Given the description of an element on the screen output the (x, y) to click on. 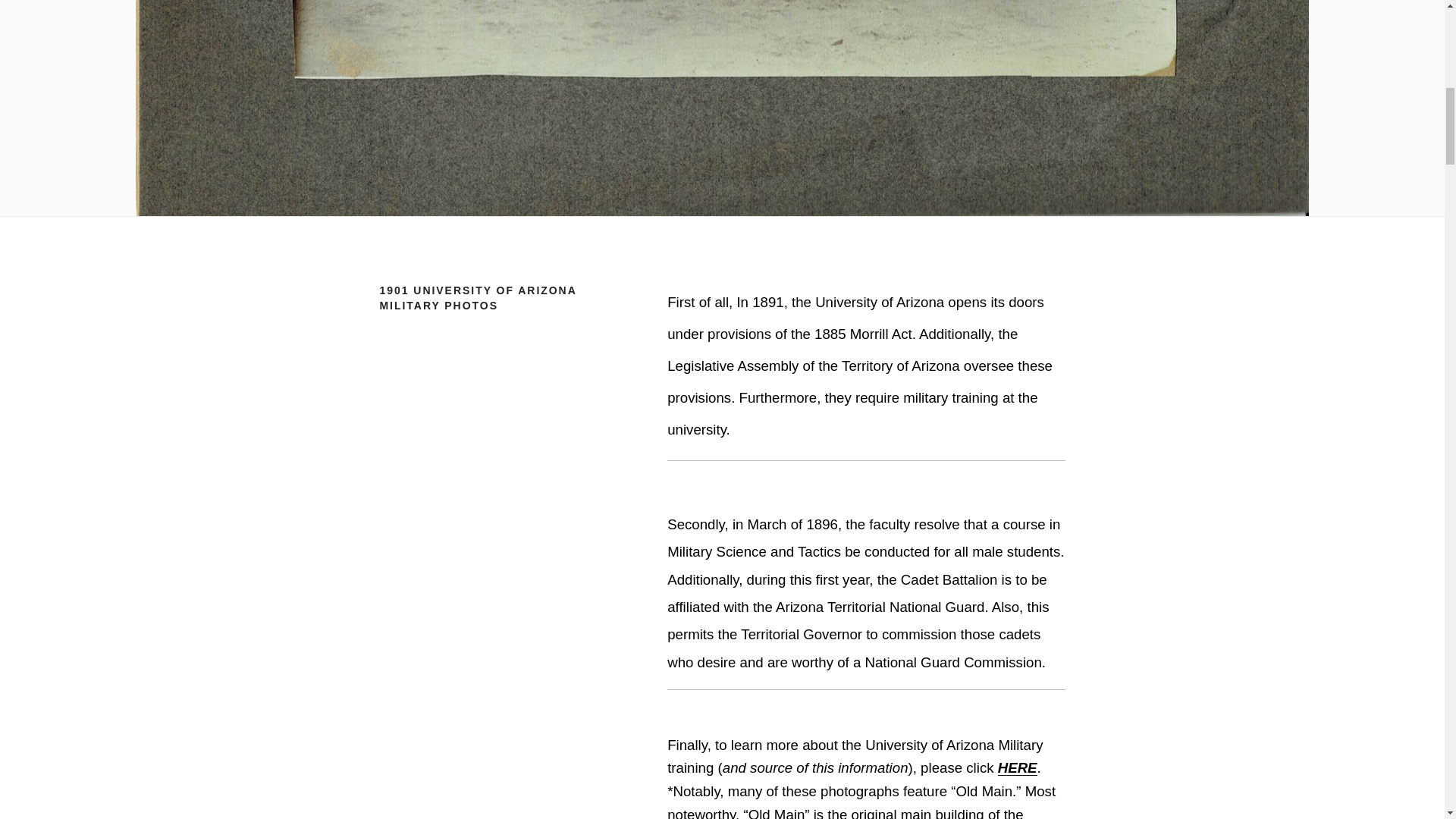
HERE (1016, 767)
